Given the description of an element on the screen output the (x, y) to click on. 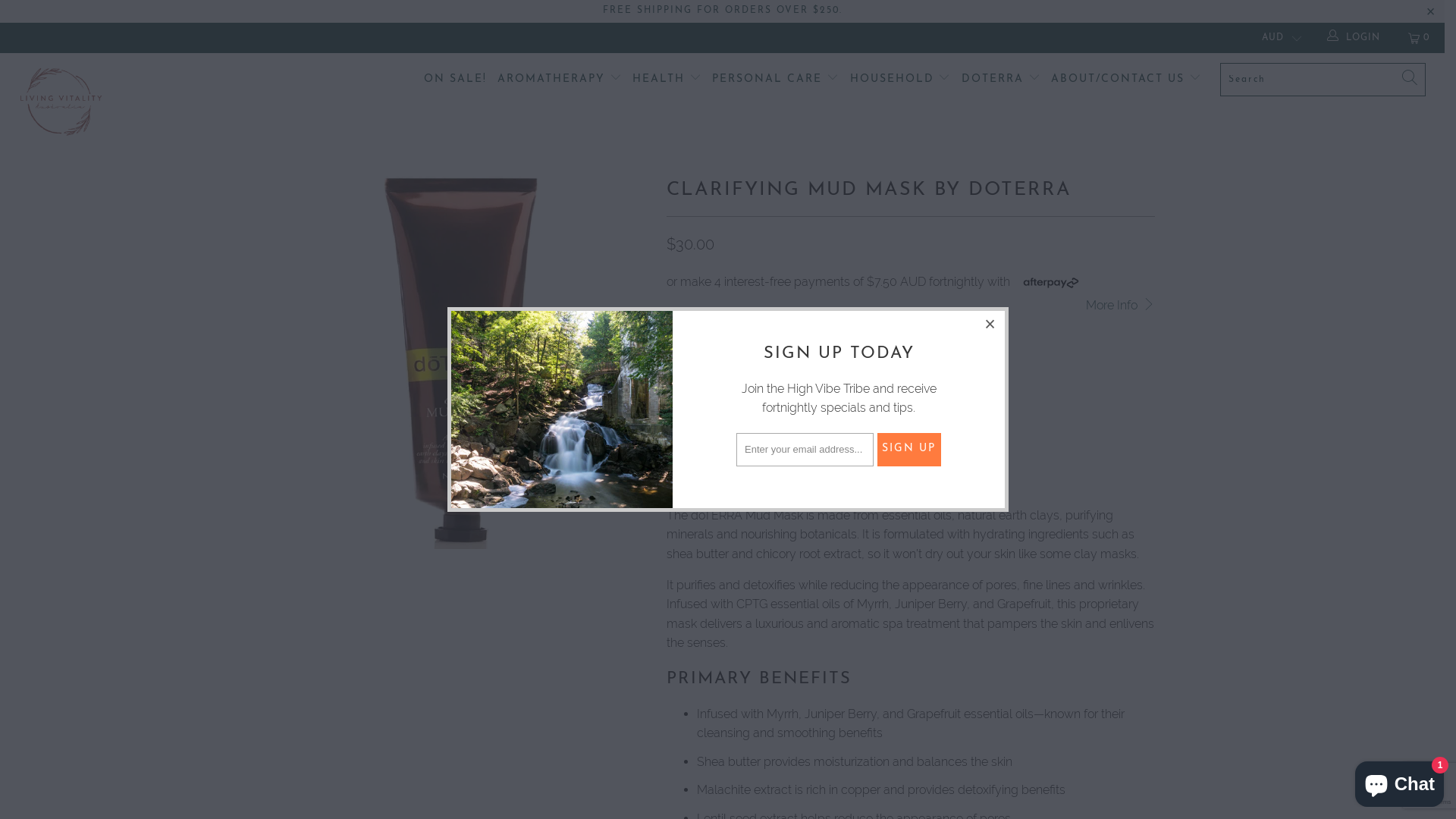
0 Element type: text (1419, 37)
DOTERRA Element type: text (1000, 79)
ON SALE! Element type: text (454, 79)
HEALTH Element type: text (666, 79)
ABOUT/CONTACT US Element type: text (1126, 79)
Sign Up Element type: text (908, 449)
ADD TO CART Element type: text (893, 347)
PERSONAL CARE Element type: text (775, 79)
More Info Element type: text (1119, 305)
Close Element type: hover (990, 324)
Living Vitality Australia Element type: hover (123, 101)
HOUSEHOLD Element type: text (900, 79)
Shopify online store chat Element type: hover (1399, 780)
LOGIN Element type: text (1354, 37)
AROMATHERAPY Element type: text (559, 79)
